Given the description of an element on the screen output the (x, y) to click on. 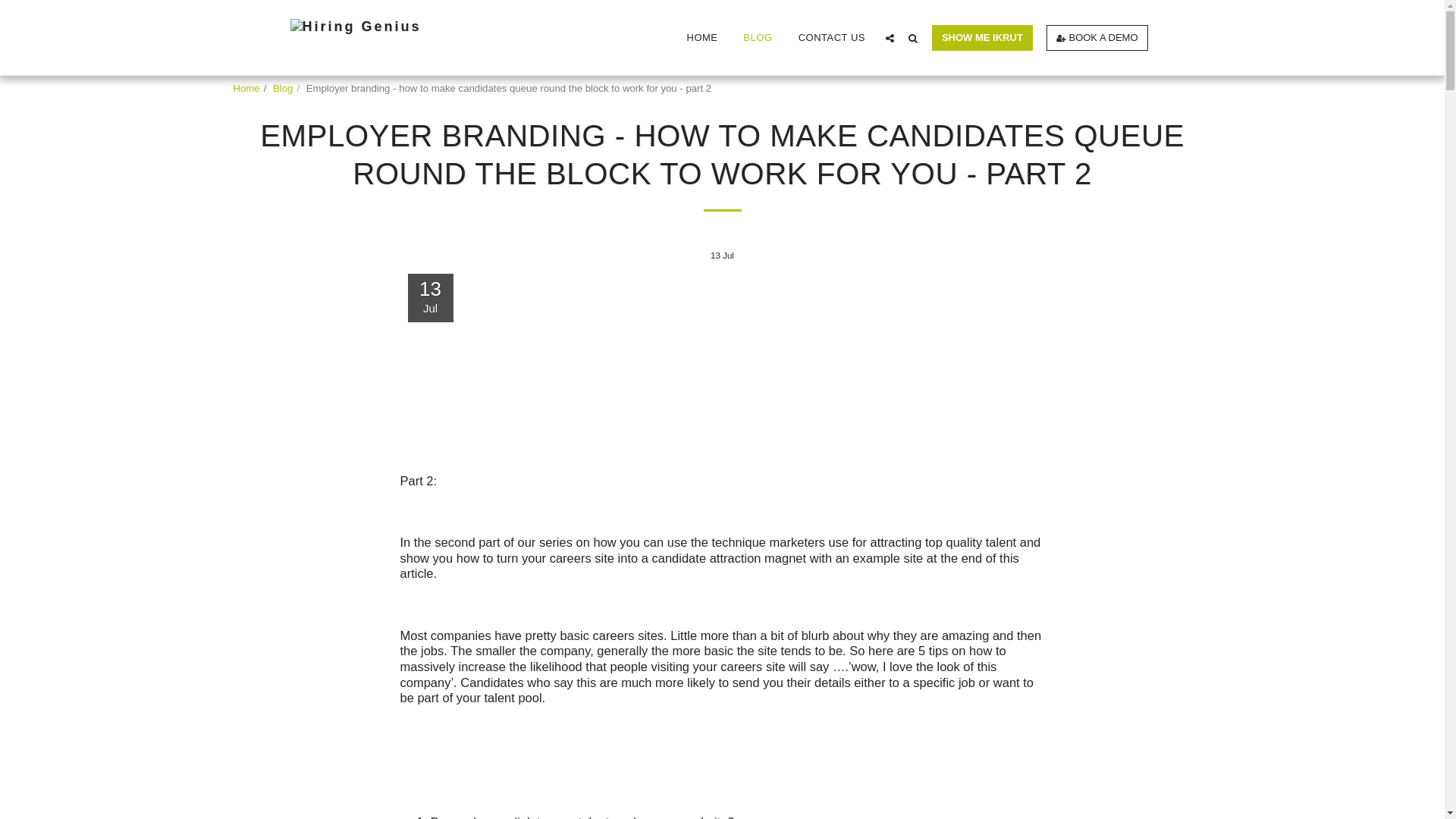
CONTACT US (831, 37)
Home (246, 88)
BLOG (758, 37)
  BOOK A DEMO (1097, 37)
SHOW ME IKRUT (981, 37)
  BOOK A DEMO (1097, 37)
HOME (702, 37)
SHOW ME IKRUT (982, 37)
